Given the description of an element on the screen output the (x, y) to click on. 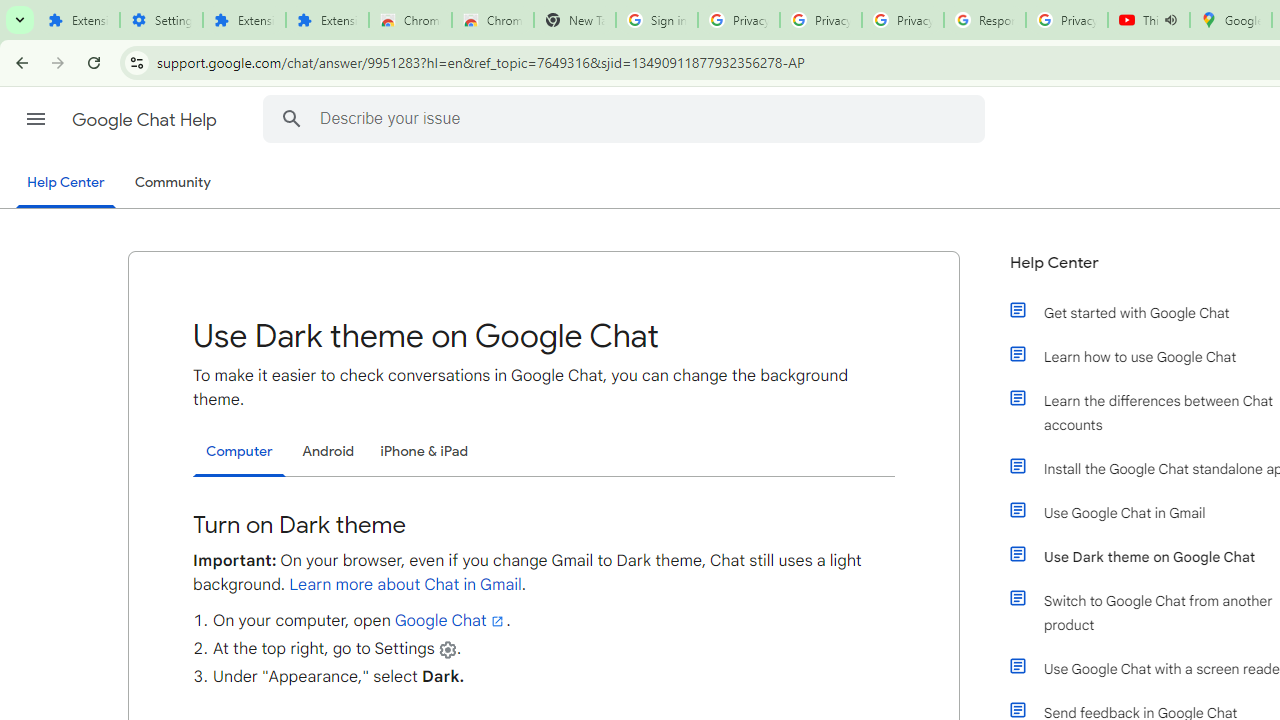
iPhone & iPad (424, 451)
Community (171, 183)
Chrome Web Store (409, 20)
